Given the description of an element on the screen output the (x, y) to click on. 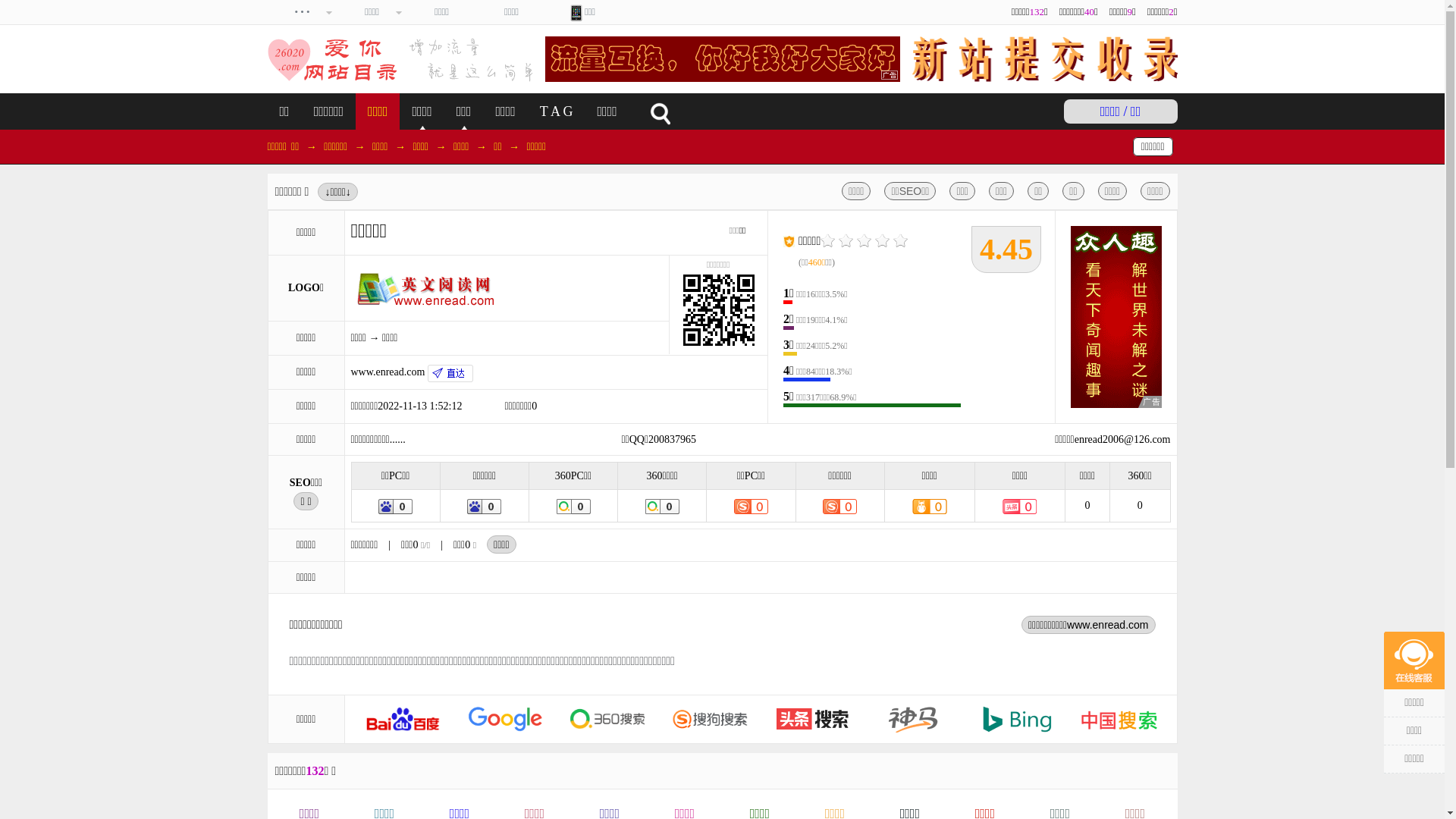
www.enread.com Element type: text (411, 371)
T A G Element type: text (556, 111)
